Given the description of an element on the screen output the (x, y) to click on. 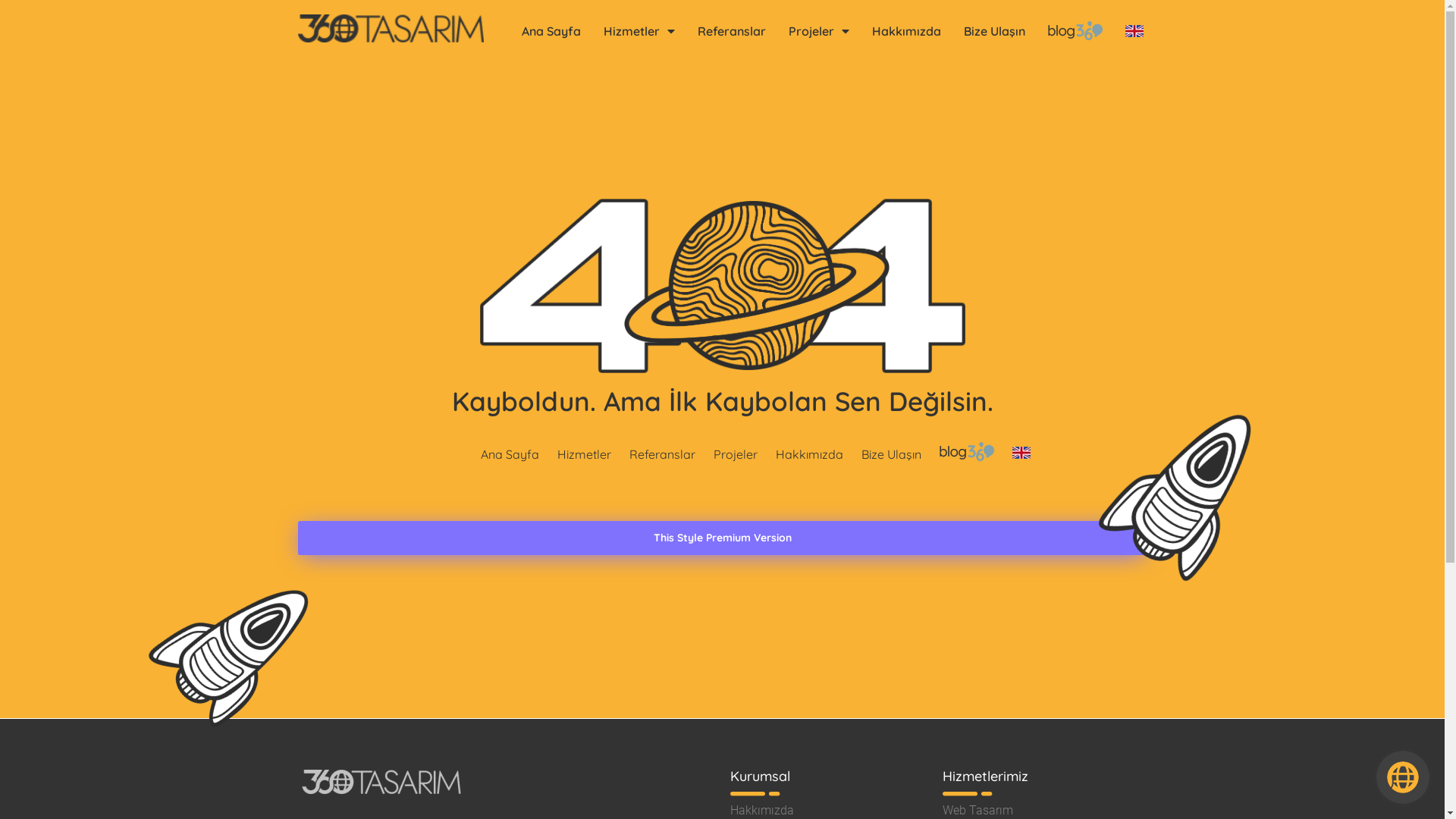
Ana Sayfa Element type: text (550, 30)
Referanslar Element type: text (730, 30)
Referanslar Element type: text (662, 453)
360tasarim-logo Element type: hover (390, 28)
Ana Sayfa Element type: text (509, 453)
Projeler Element type: text (817, 30)
Hizmetler Element type: text (638, 30)
Projeler Element type: text (735, 453)
Hizmetler Element type: text (584, 453)
